Given the description of an element on the screen output the (x, y) to click on. 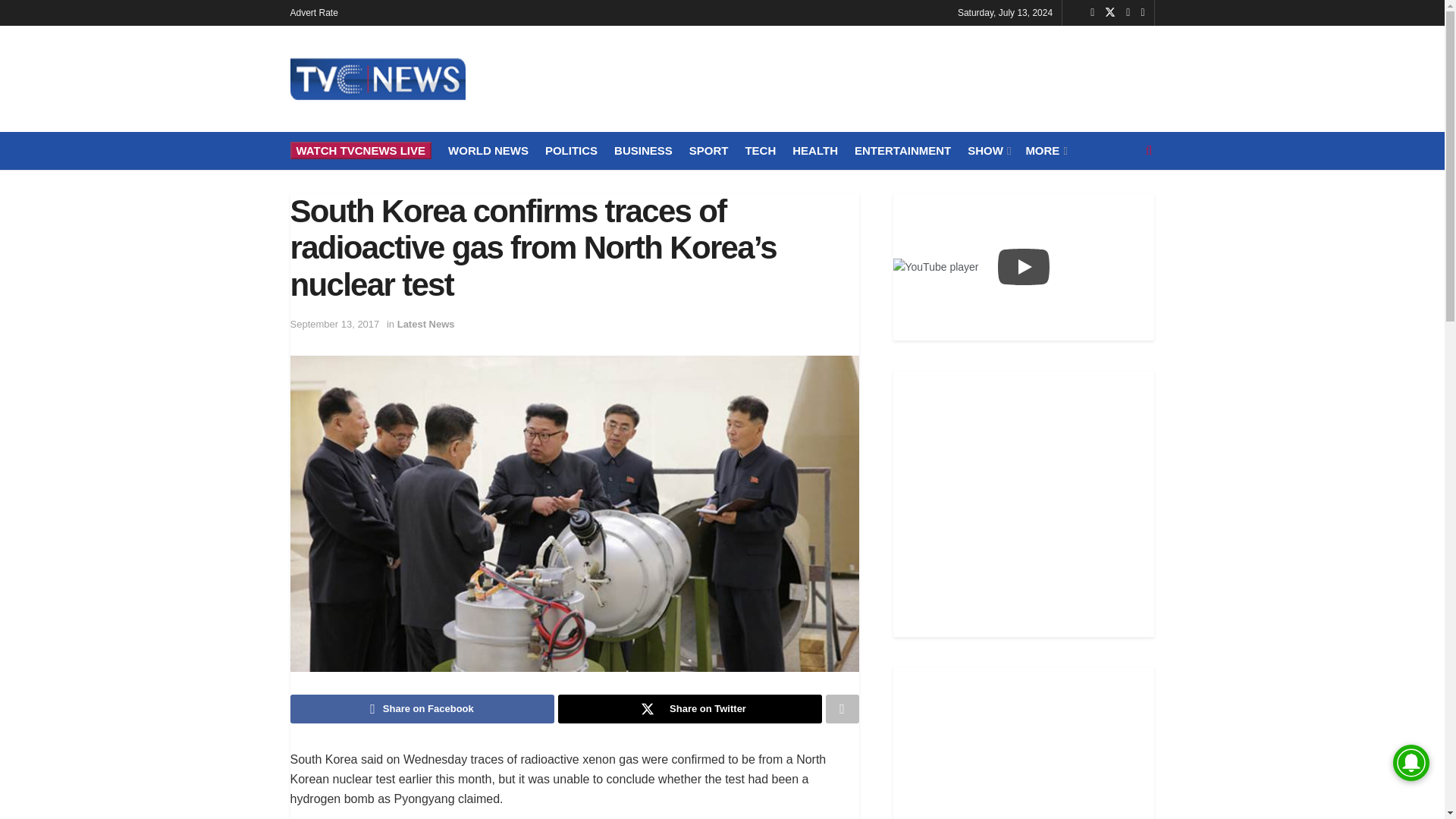
ENTERTAINMENT (902, 150)
TECH (760, 150)
WATCH TVCNEWS LIVE (359, 149)
Advertisement (1023, 743)
MORE (1044, 150)
WATCH TVCNEWS LIVE (359, 150)
HEALTH (815, 150)
Advertisement (1023, 501)
SPORT (708, 150)
SHOW (988, 150)
Advert Rate (313, 12)
POLITICS (570, 150)
BUSINESS (643, 150)
Advertisement (878, 76)
WORLD NEWS (488, 150)
